Given the description of an element on the screen output the (x, y) to click on. 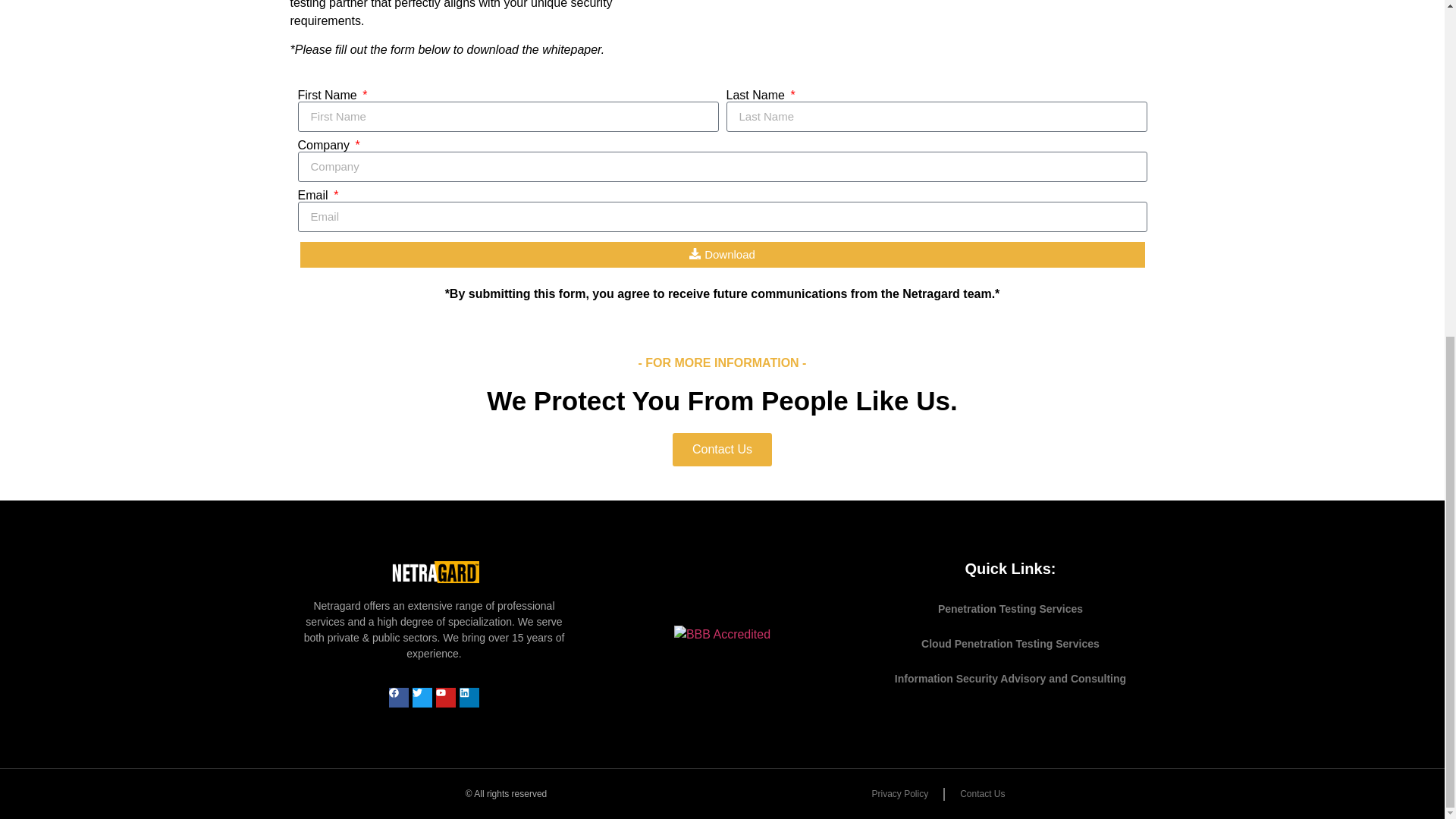
Penetration Testing Services (1010, 608)
Information Security Advisory and Consulting (1010, 678)
Cloud Penetration Testing Services (1010, 643)
BBB-Accredited-Business-Logo (722, 634)
Download (722, 254)
Contact Us (721, 449)
